Given the description of an element on the screen output the (x, y) to click on. 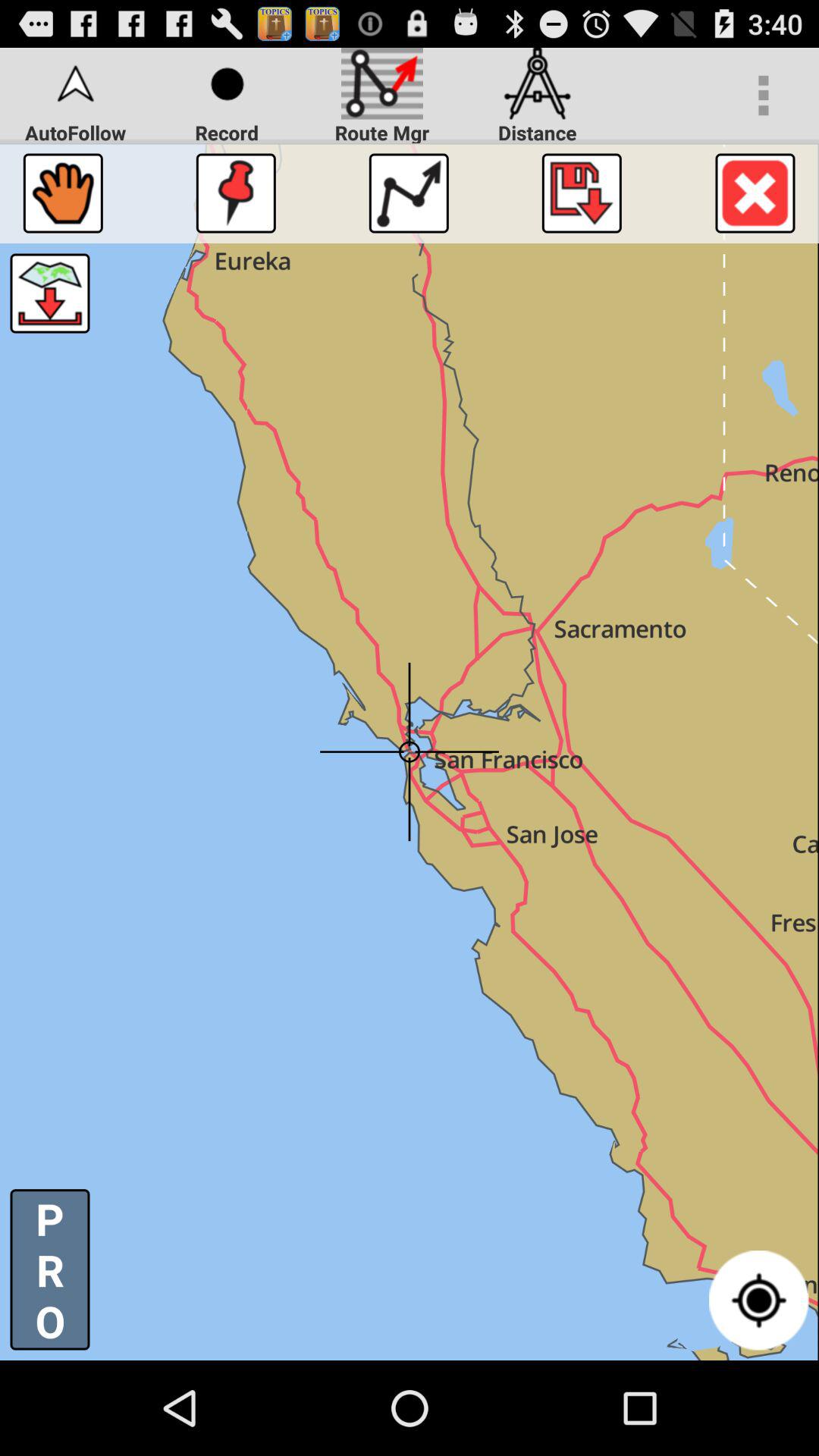
choose app below the route mgr app (408, 193)
